Given the description of an element on the screen output the (x, y) to click on. 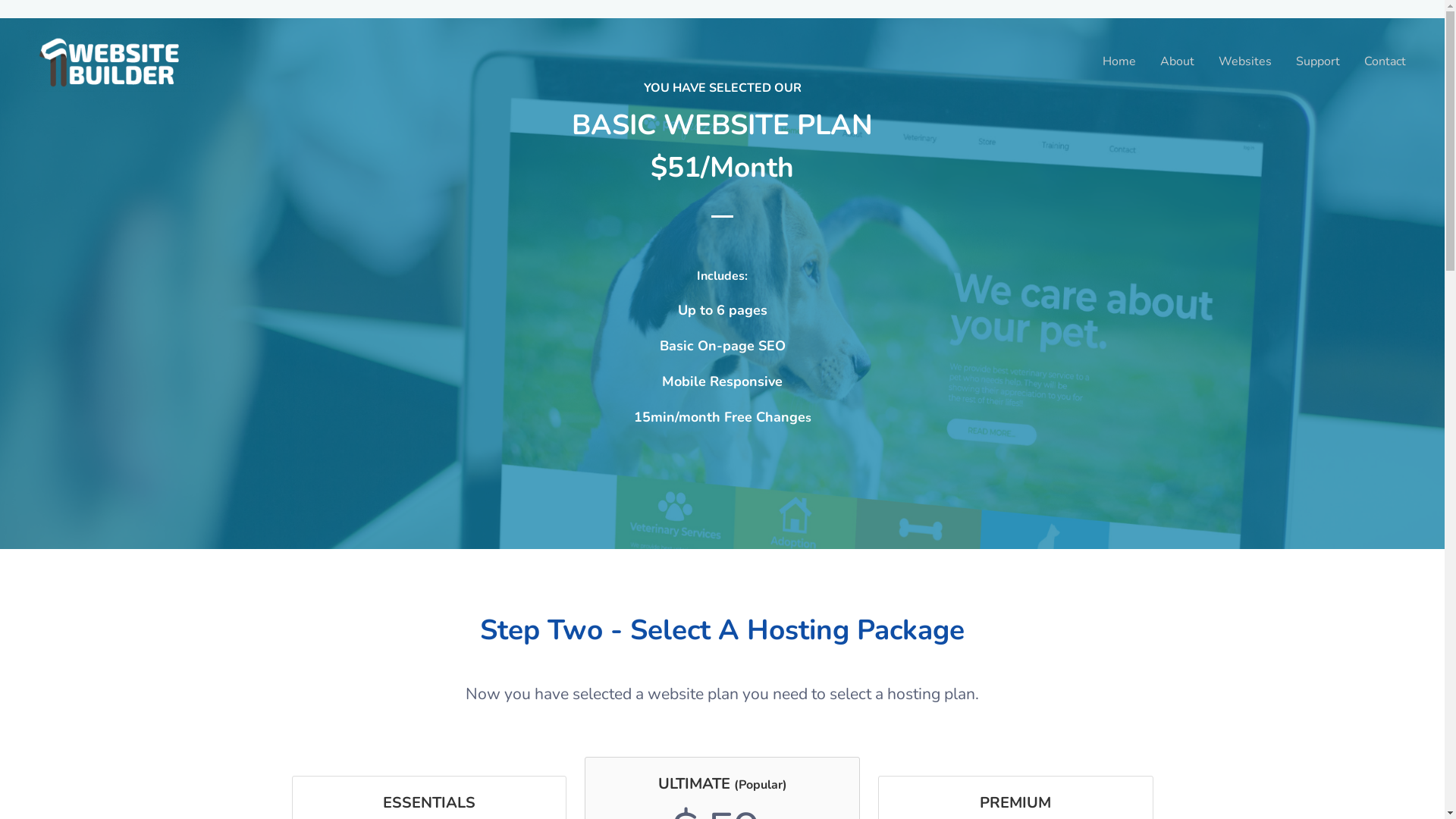
Contact Element type: text (1385, 60)
Home Element type: text (1119, 60)
Websites Element type: text (1244, 60)
Support Element type: text (1317, 60)
About Element type: text (1177, 60)
